Given the description of an element on the screen output the (x, y) to click on. 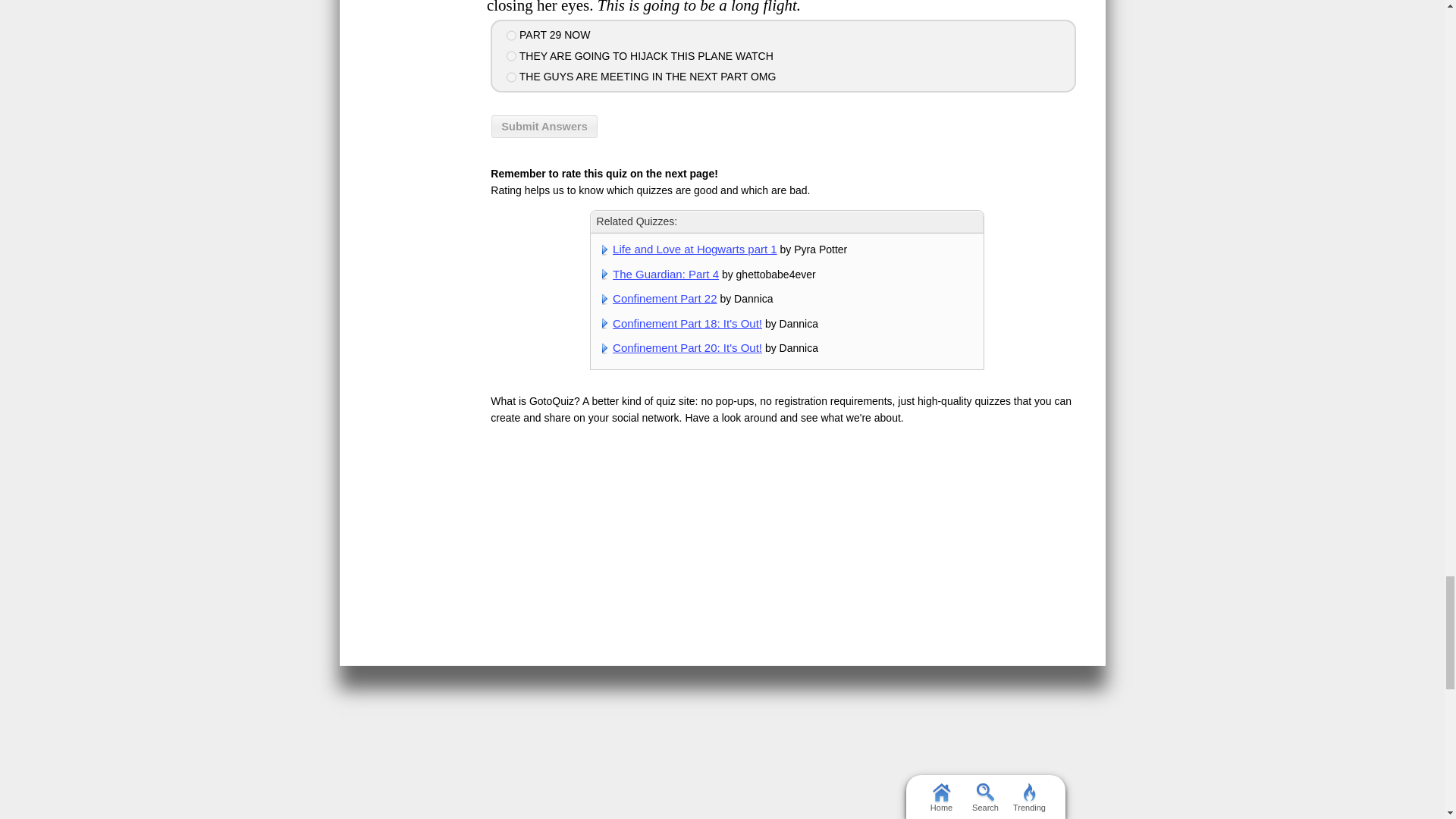
Submit Answers (544, 126)
Confinement Part 22 (664, 297)
The Guardian: Part 4 (665, 273)
Confinement Part 18: It's Out! (686, 323)
Confinement Part 20: It's Out! (686, 347)
Life and Love at Hogwarts part 1 (694, 248)
